Given the description of an element on the screen output the (x, y) to click on. 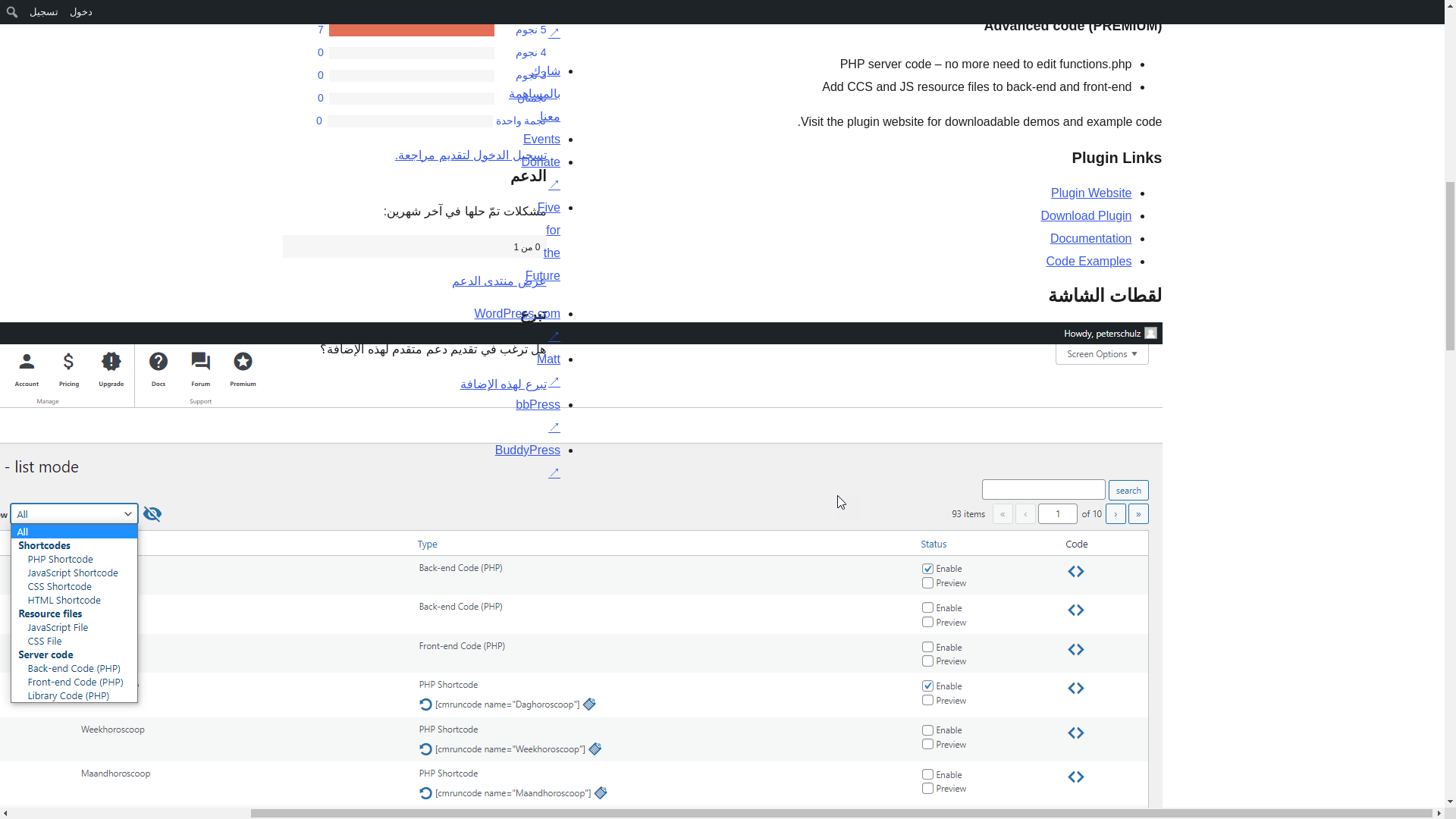
WordPress.org (579, 504)
Documentation (1090, 237)
Code Examples (1089, 260)
Download Plugin (1086, 215)
Plugin Website (1091, 192)
WordPress.org (429, 504)
